Given the description of an element on the screen output the (x, y) to click on. 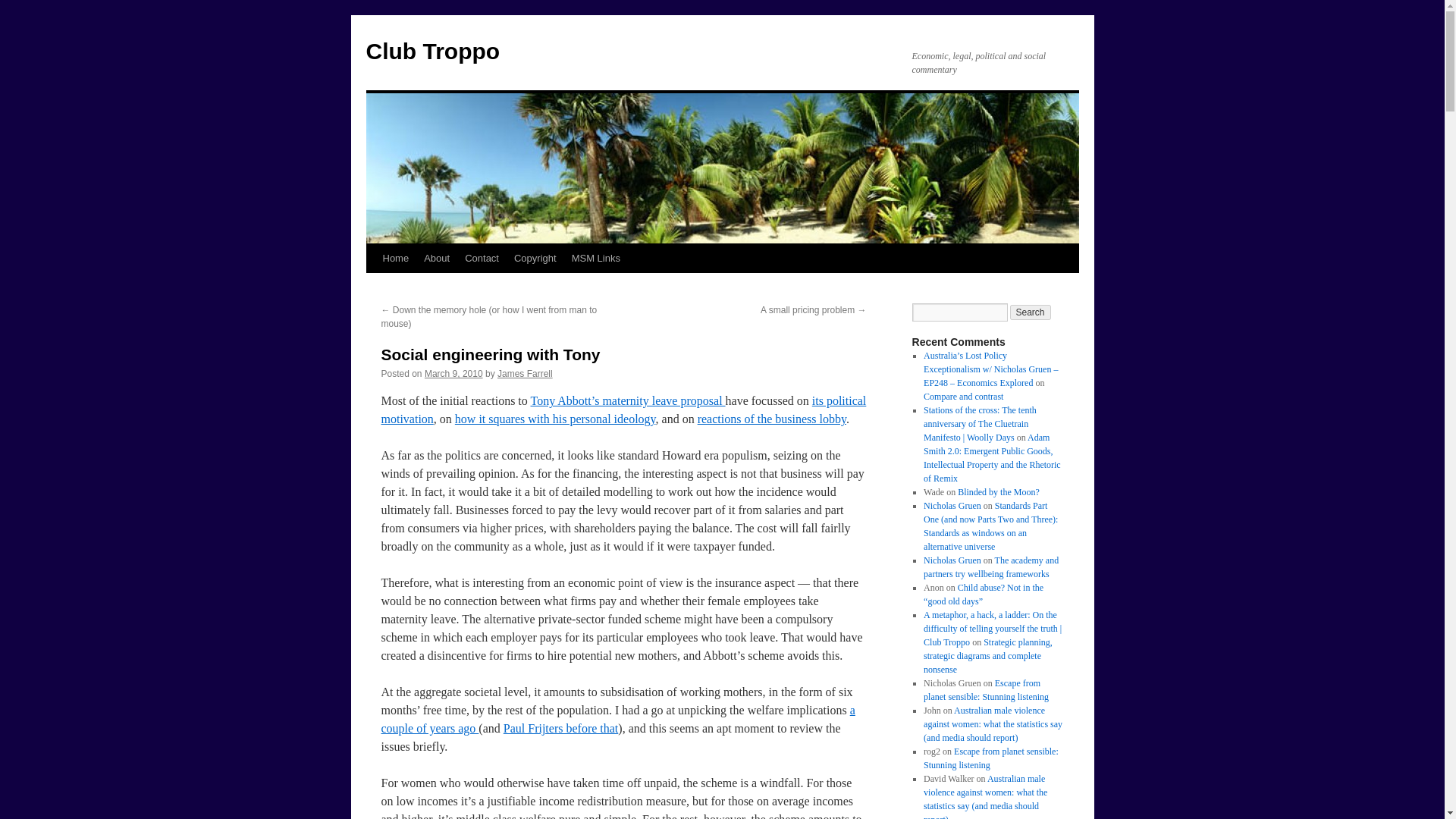
Home (395, 258)
Search (1030, 312)
View all posts by James Farrell (525, 373)
Paul Frijters before that (560, 727)
Club Troppo (432, 50)
MSM Links (595, 258)
Skip to content (372, 286)
Contact (481, 258)
Copyright (535, 258)
reactions of the business lobby (771, 418)
its political motivation (623, 409)
James Farrell (525, 373)
a couple of years ago (617, 718)
how it squares with his personal ideology (555, 418)
March 9, 2010 (454, 373)
